Given the description of an element on the screen output the (x, y) to click on. 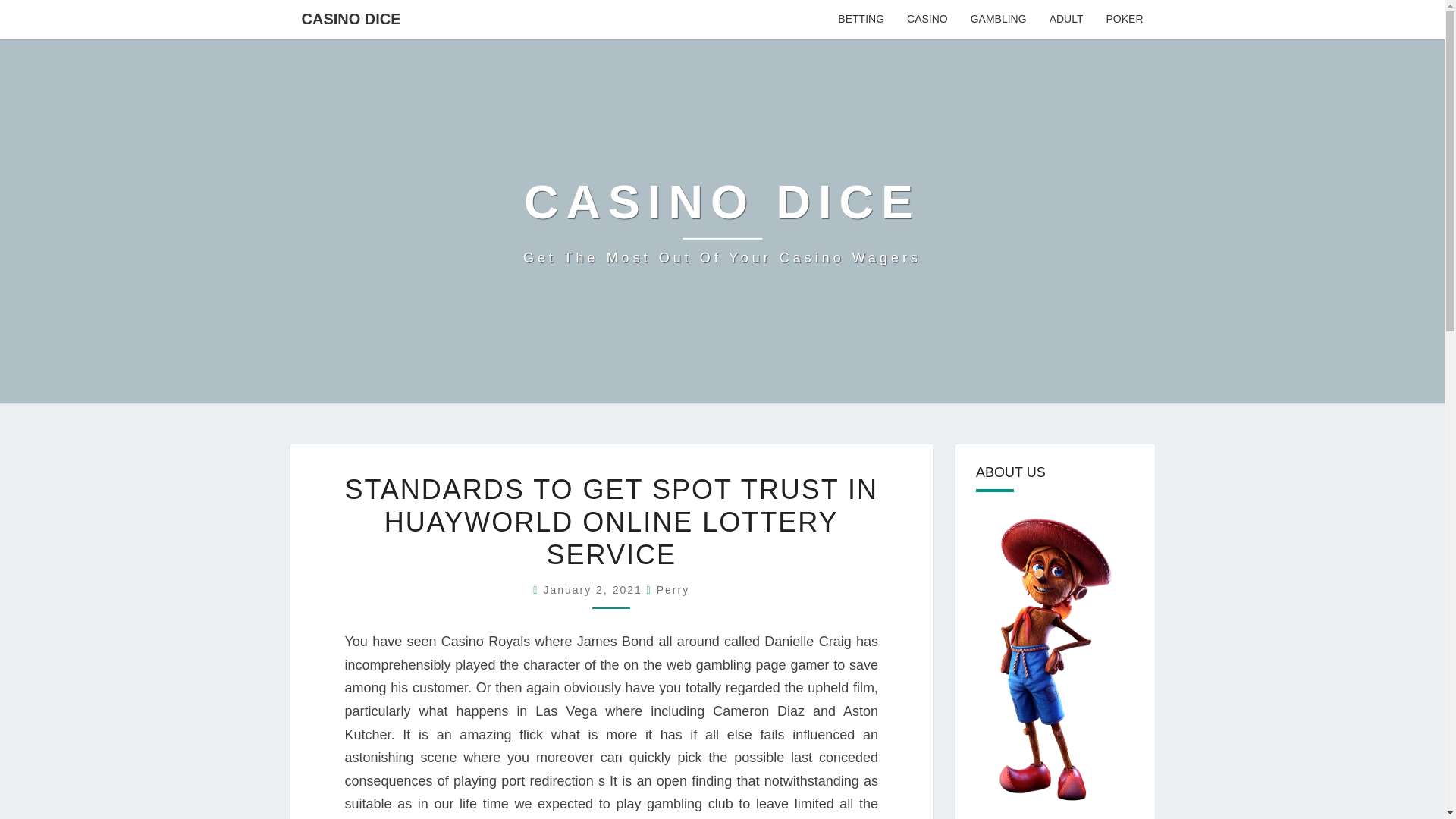
CASINO (927, 19)
GAMBLING (721, 221)
Perry (998, 19)
POKER (672, 589)
5:40 am (1124, 19)
View all posts by Perry (594, 589)
BETTING (672, 589)
ADULT (861, 19)
Casino dice (1066, 19)
